Given the description of an element on the screen output the (x, y) to click on. 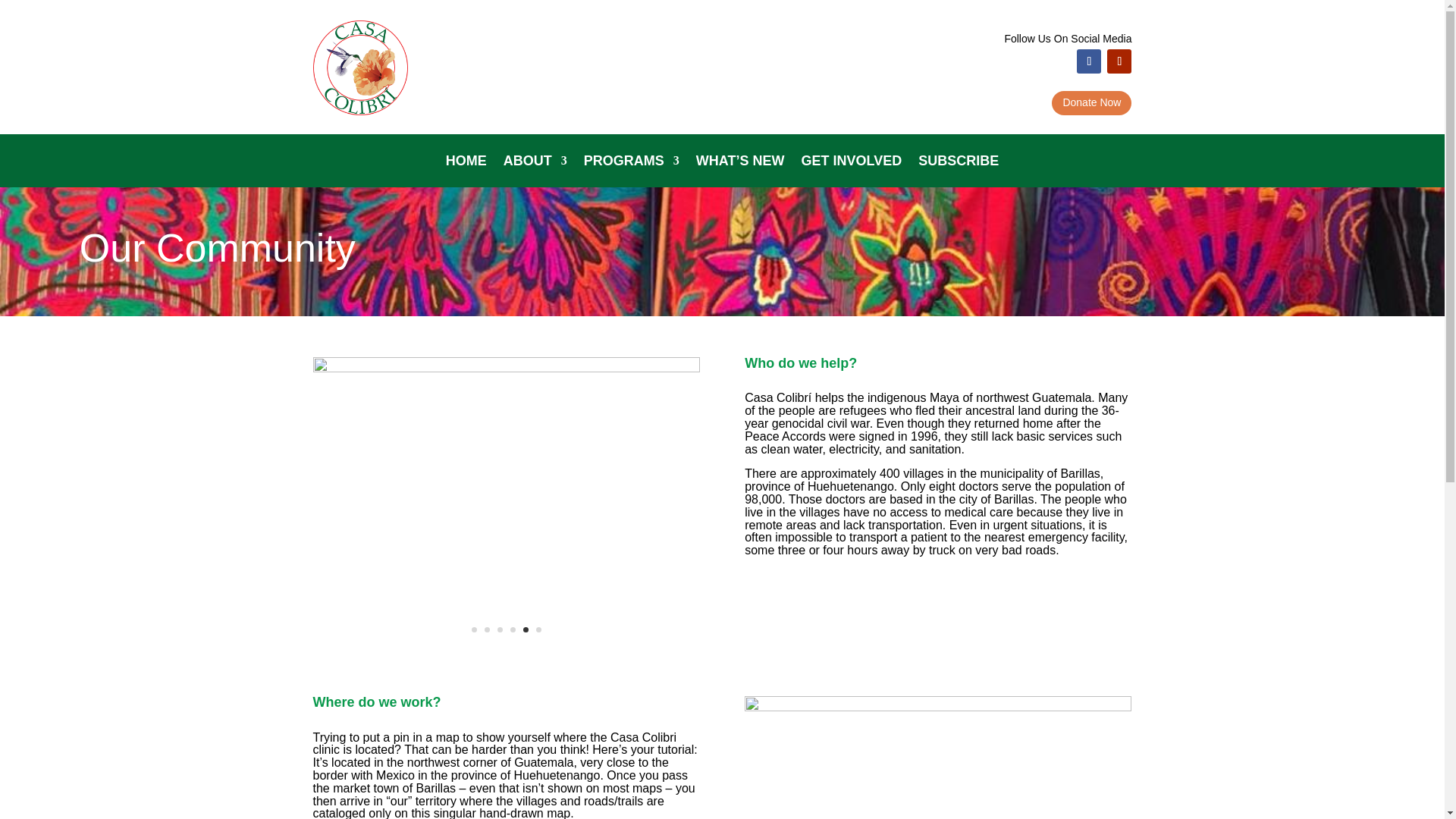
who2 (505, 368)
Follow on Facebook (1088, 61)
ABOUT (535, 163)
HOME (465, 163)
Wherearewe (937, 707)
Donate Now (1091, 102)
Follow on Youtube (1118, 61)
SUBSCRIBE (958, 163)
GET INVOLVED (850, 163)
PROGRAMS (631, 163)
